Given the description of an element on the screen output the (x, y) to click on. 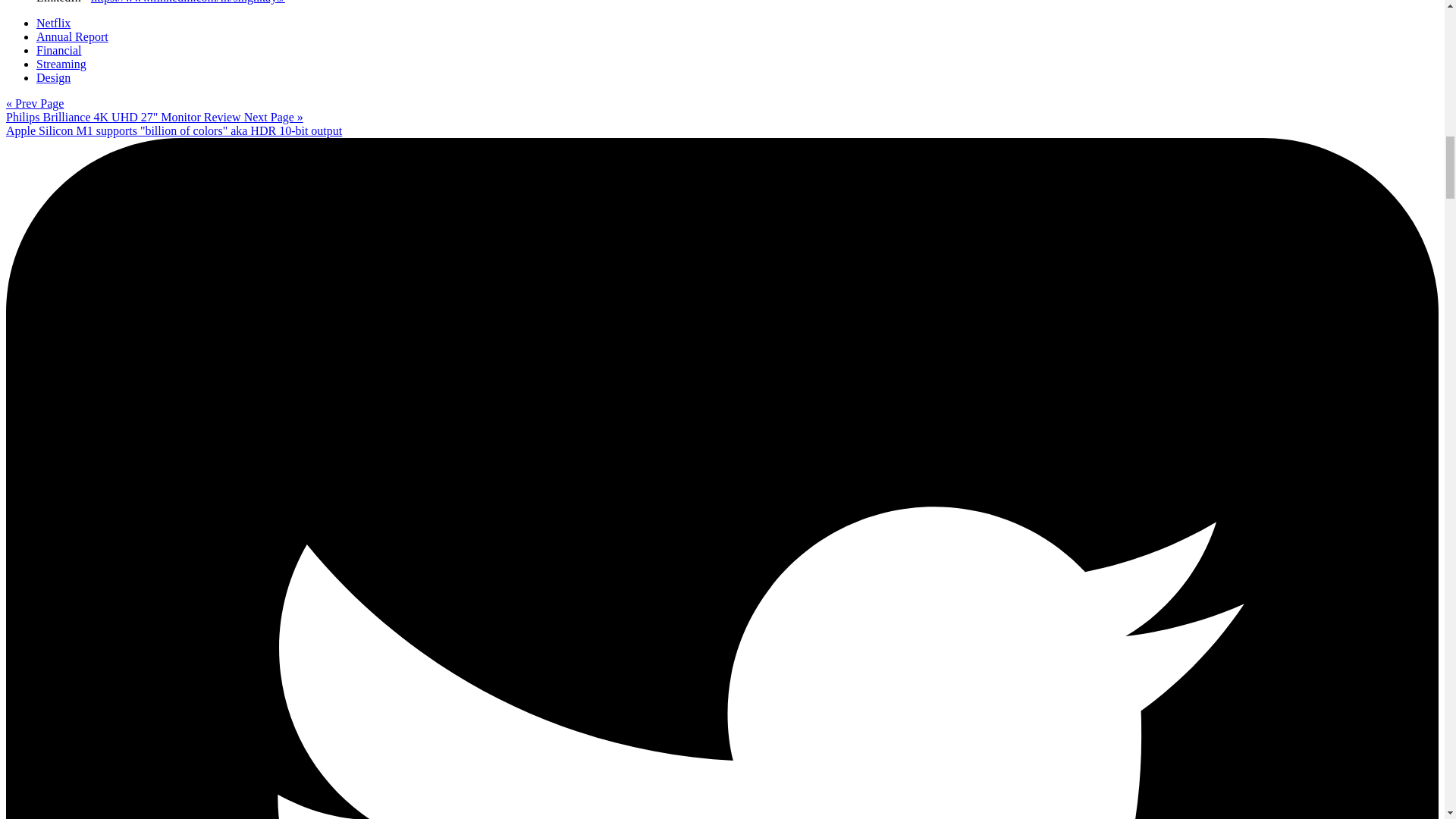
Netflix (52, 22)
Financial (58, 50)
Annual Report (71, 36)
